Given the description of an element on the screen output the (x, y) to click on. 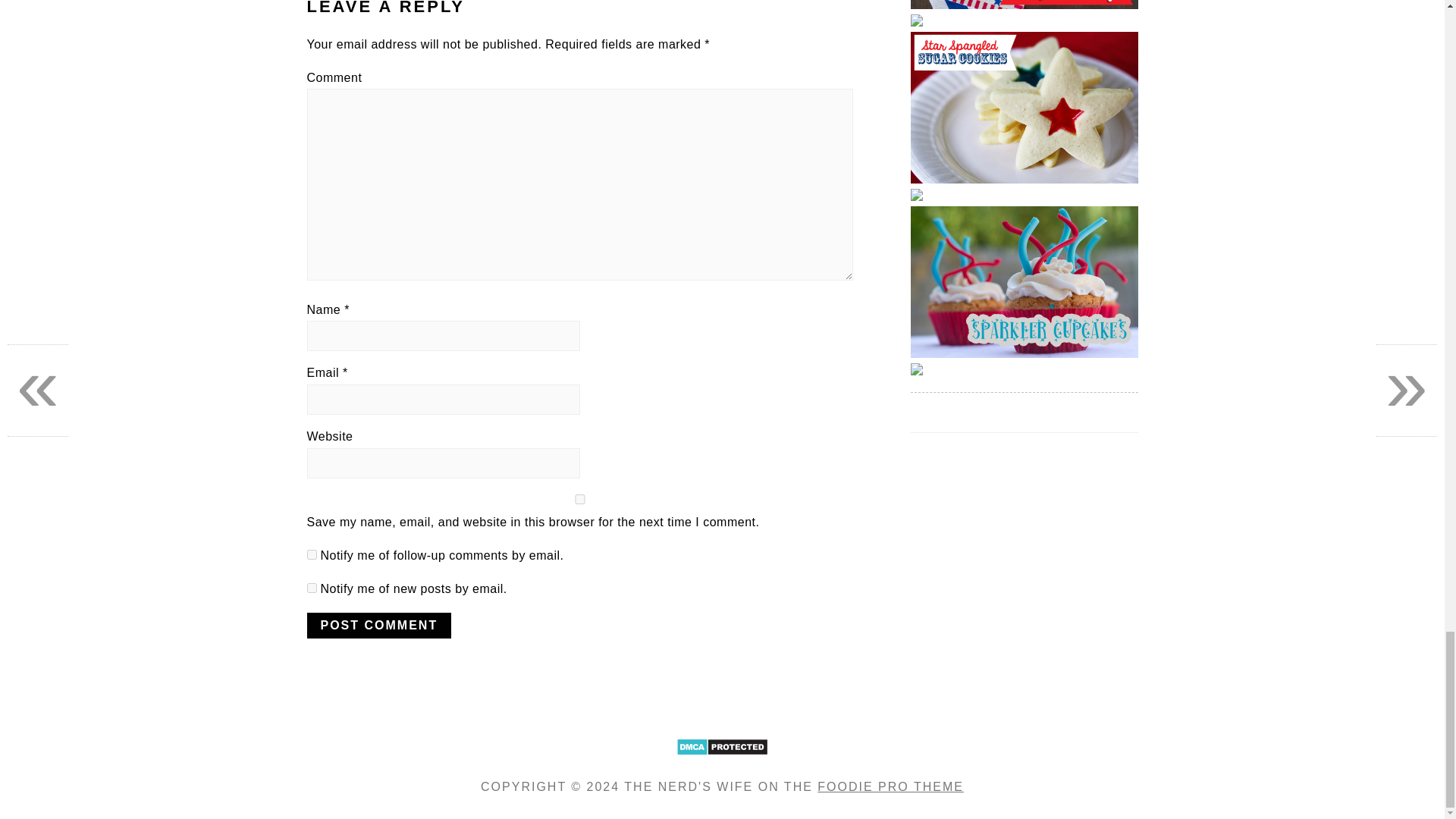
Post Comment (378, 625)
subscribe (310, 554)
DMCA.com Protection Program (722, 764)
subscribe (310, 587)
yes (578, 499)
